Given the description of an element on the screen output the (x, y) to click on. 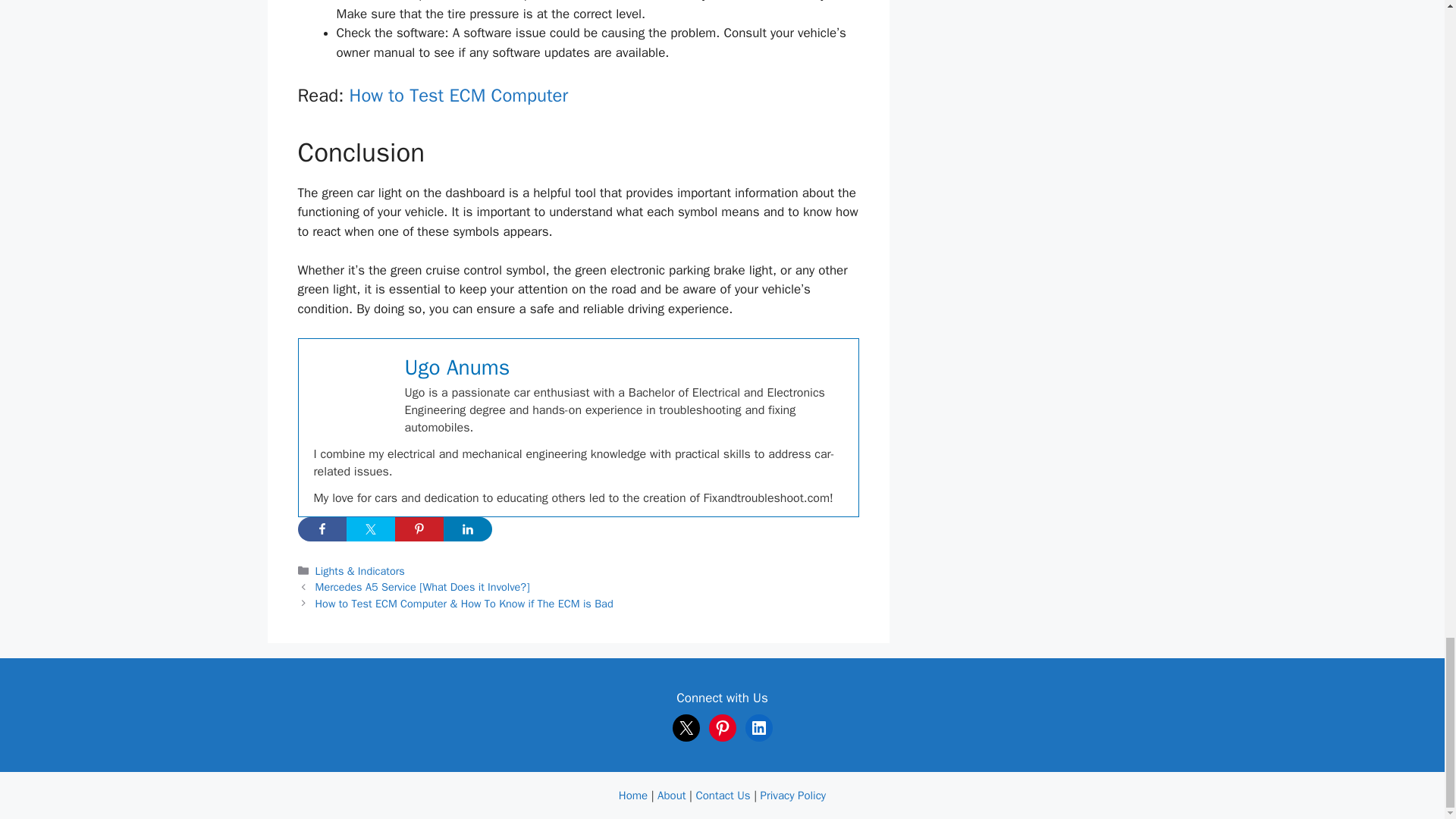
Ugo Anums (457, 366)
Share on Twitter (370, 528)
Share on Pinterest (418, 528)
Share on LinkedIn (467, 528)
Share on Facebook (321, 528)
How to Test ECM Computer (459, 95)
